Given the description of an element on the screen output the (x, y) to click on. 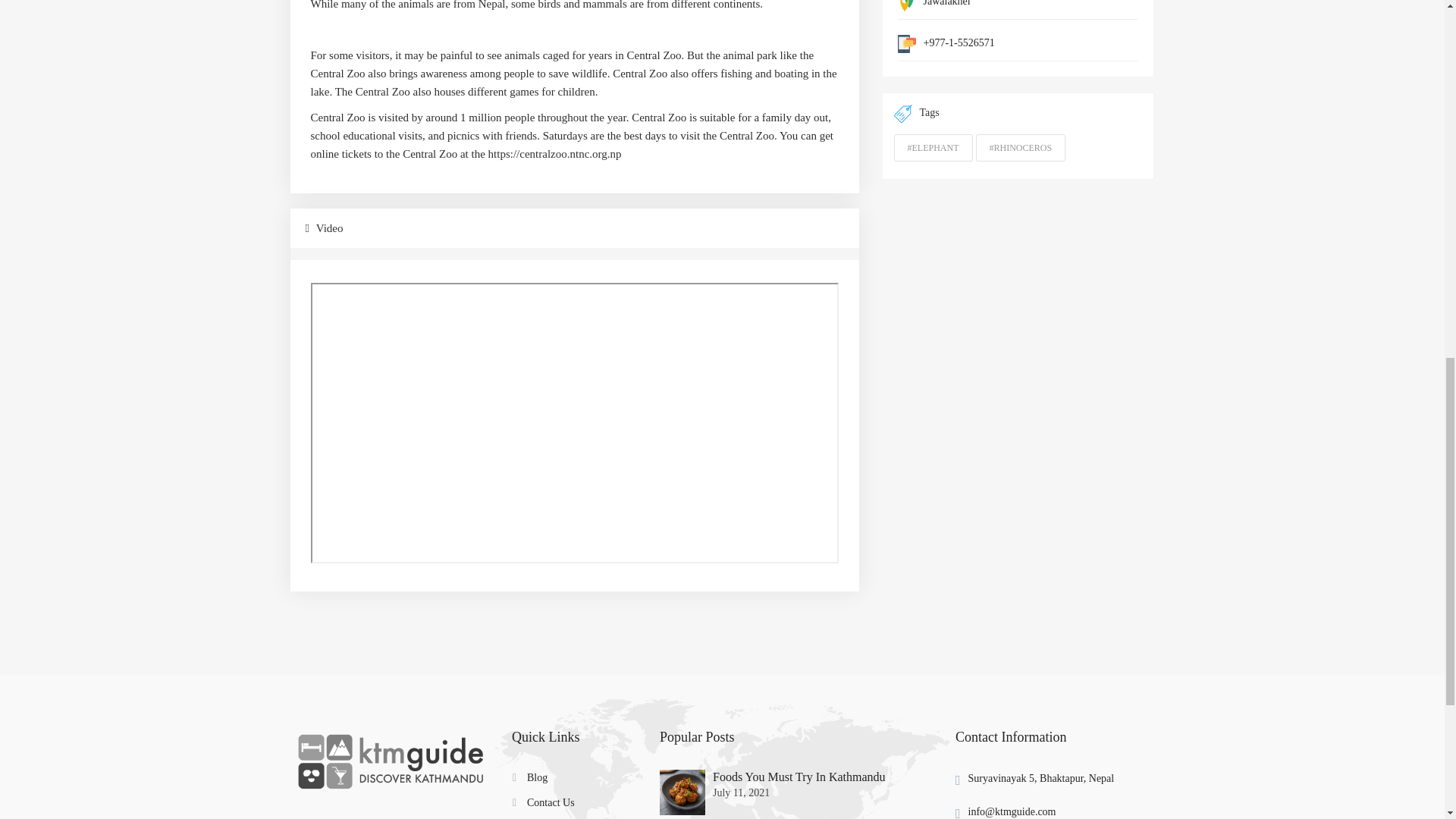
rhinoceros (1020, 147)
elephant (932, 147)
